Given the description of an element on the screen output the (x, y) to click on. 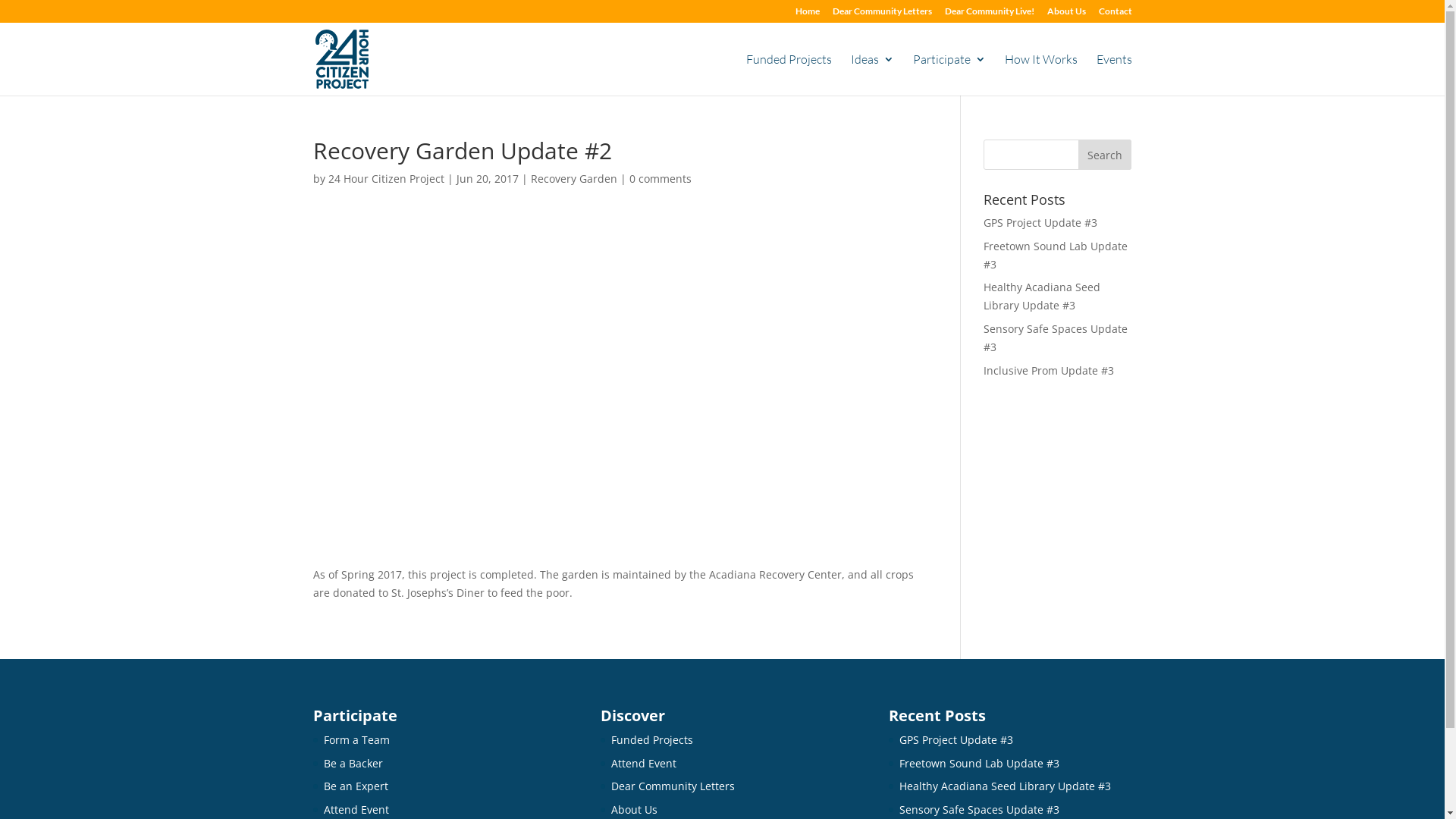
Freetown Sound Lab Update #3 Element type: text (979, 763)
Be a Backer Element type: text (352, 763)
Inclusive Prom Update #3 Element type: text (1048, 370)
Attend Event Element type: text (643, 763)
Recovery Garden Update #2 Element type: hover (613, 373)
0 comments Element type: text (660, 178)
GPS Project Update #3 Element type: text (956, 739)
Funded Projects Element type: text (652, 739)
Contact Element type: text (1114, 14)
Home Element type: text (806, 14)
Ideas Element type: text (872, 74)
Recovery Garden Element type: text (573, 178)
Form a Team Element type: text (356, 739)
Attend Event Element type: text (355, 809)
Funded Projects Element type: text (788, 74)
GPS Project Update #3 Element type: text (1040, 222)
Events Element type: text (1114, 74)
Participate Element type: text (949, 74)
Be an Expert Element type: text (355, 785)
How It Works Element type: text (1040, 74)
Dear Community Letters Element type: text (881, 14)
Healthy Acadiana Seed Library Update #3 Element type: text (1041, 295)
Freetown Sound Lab Update #3 Element type: text (1055, 254)
About Us Element type: text (1065, 14)
Dear Community Live! Element type: text (989, 14)
Search Element type: text (1104, 154)
24 Hour Citizen Project Element type: text (385, 178)
Dear Community Letters Element type: text (672, 785)
About Us Element type: text (634, 809)
Healthy Acadiana Seed Library Update #3 Element type: text (1004, 785)
